Given the description of an element on the screen output the (x, y) to click on. 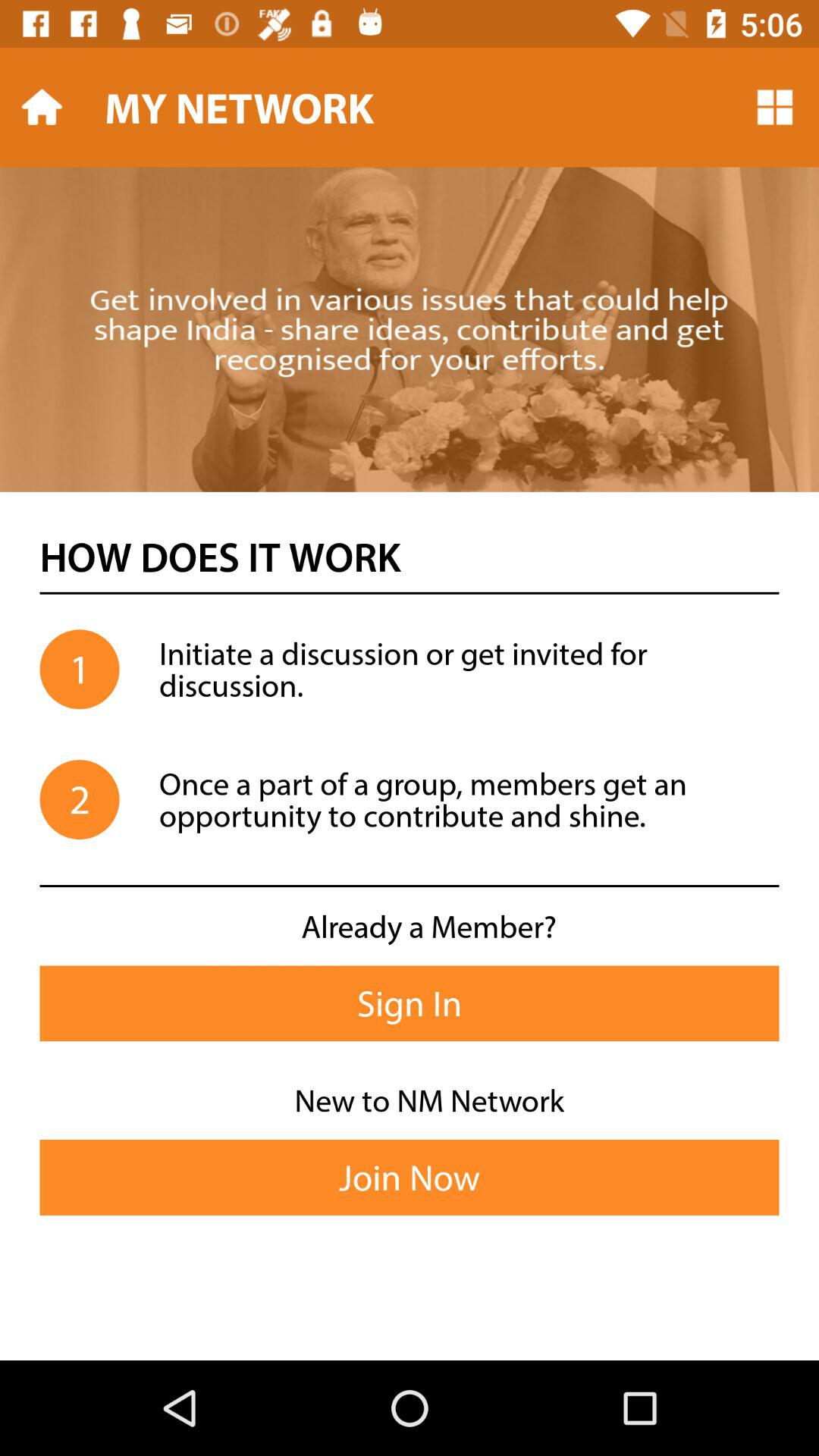
select icon below new to nm icon (409, 1177)
